Given the description of an element on the screen output the (x, y) to click on. 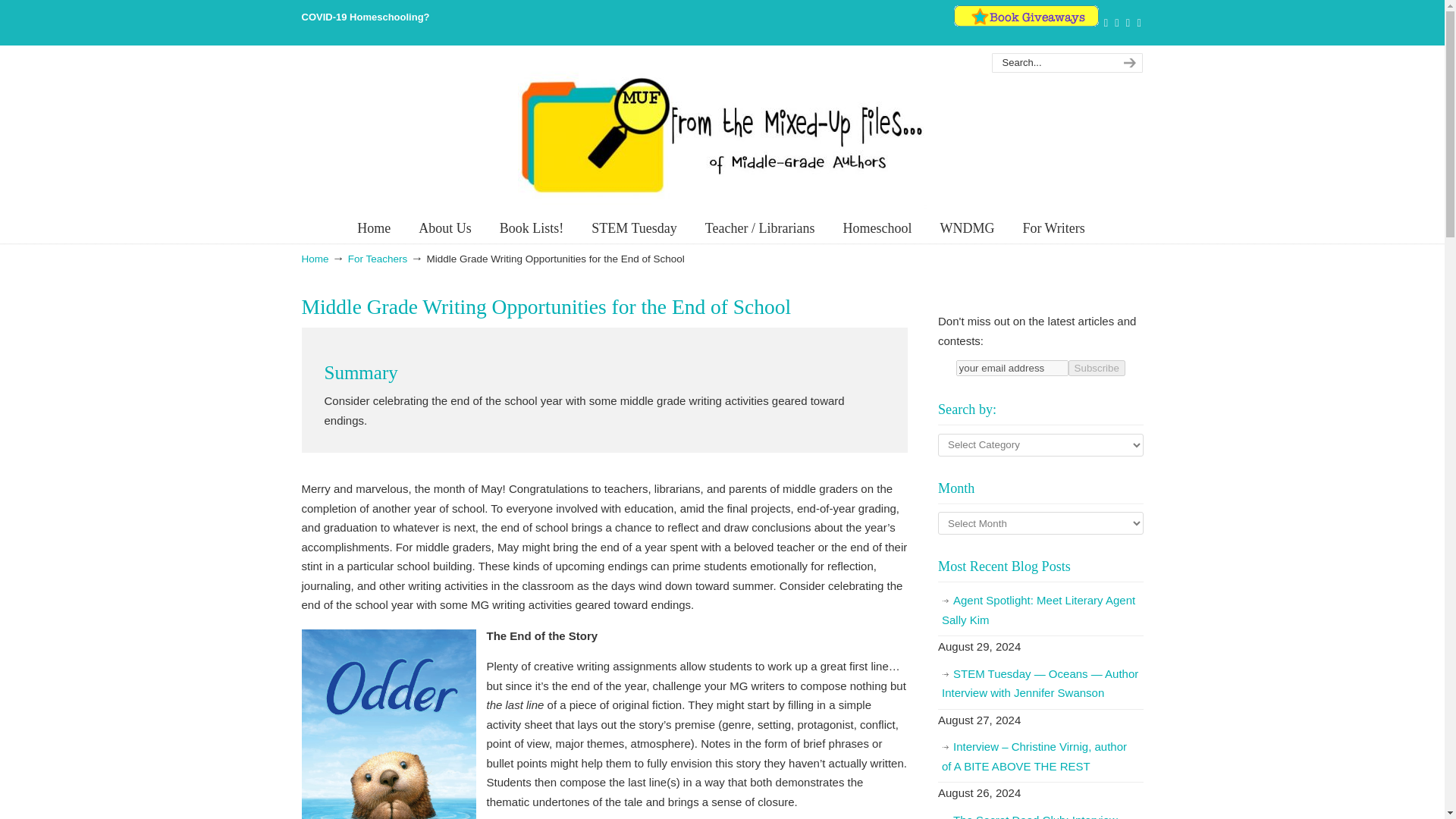
Book Lists! (531, 228)
From The Mixed Up Files (721, 134)
search (1126, 62)
STEM Tuesday (634, 228)
About Us (444, 228)
Subscribe (1096, 367)
Homeschool (876, 228)
COVID-19 Homeschooling? (365, 16)
your email address (1012, 367)
Search... (1051, 62)
